Given the description of an element on the screen output the (x, y) to click on. 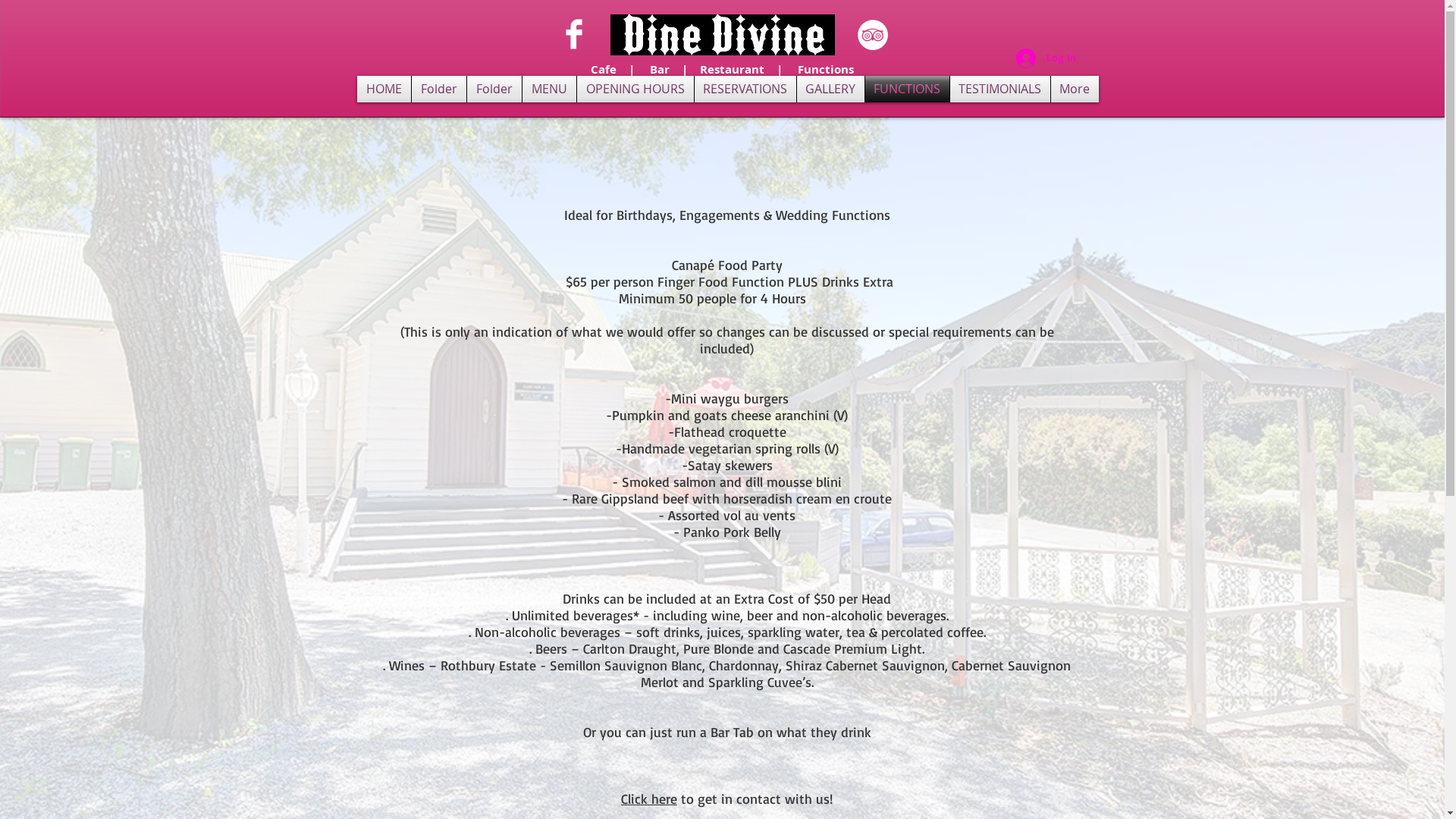
Click here Element type: text (649, 798)
TESTIMONIALS Element type: text (999, 88)
HOME Element type: text (383, 88)
FUNCTIONS Element type: text (906, 88)
Dine Divine White on Black Logo (1)-page-001.jpg Element type: hover (721, 34)
Log In Element type: text (1045, 57)
RESERVATIONS Element type: text (745, 88)
OPENING HOURS Element type: text (634, 88)
GALLERY Element type: text (829, 88)
